Given the description of an element on the screen output the (x, y) to click on. 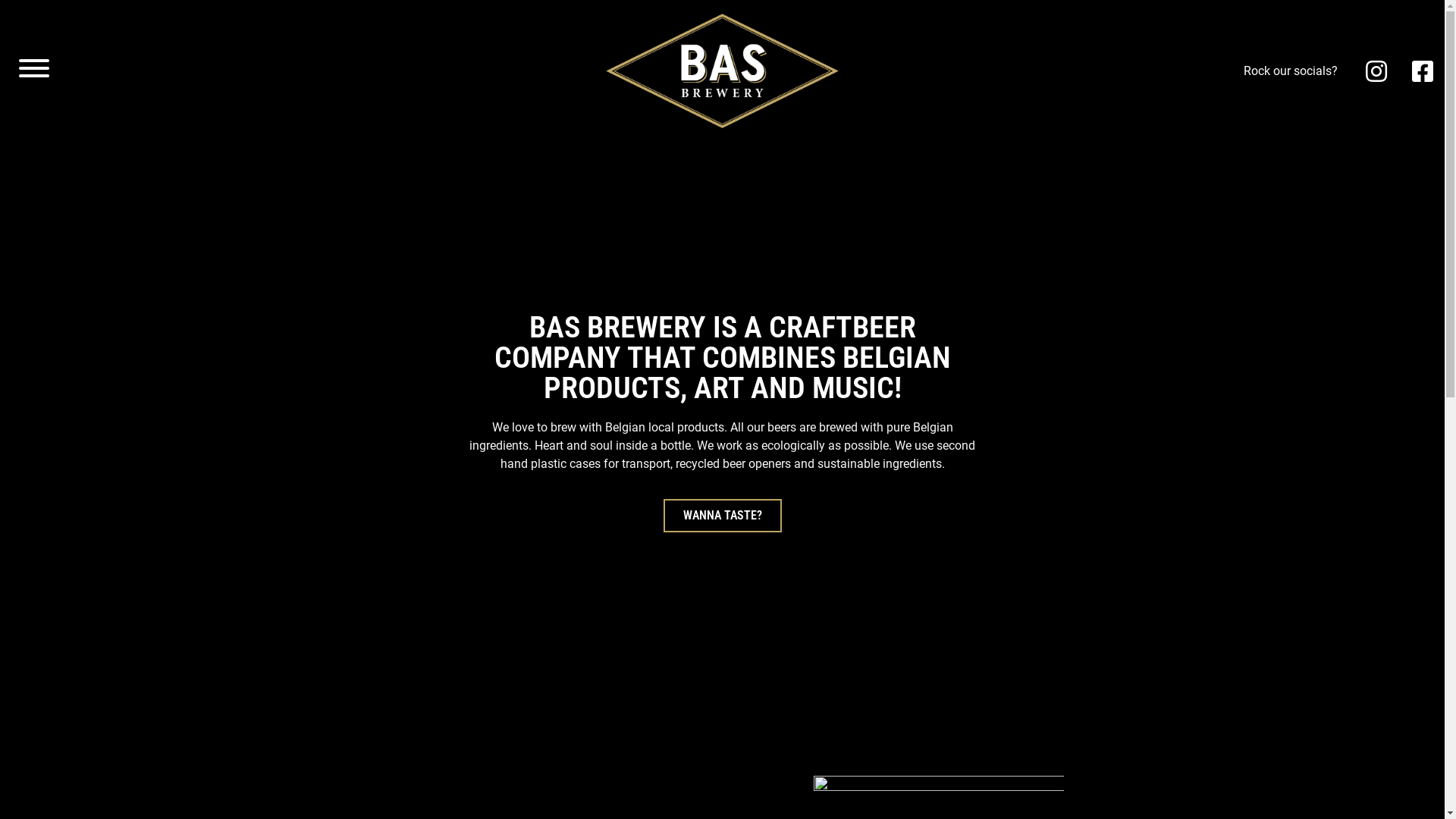
WANNA TASTE? Element type: text (721, 515)
